Given the description of an element on the screen output the (x, y) to click on. 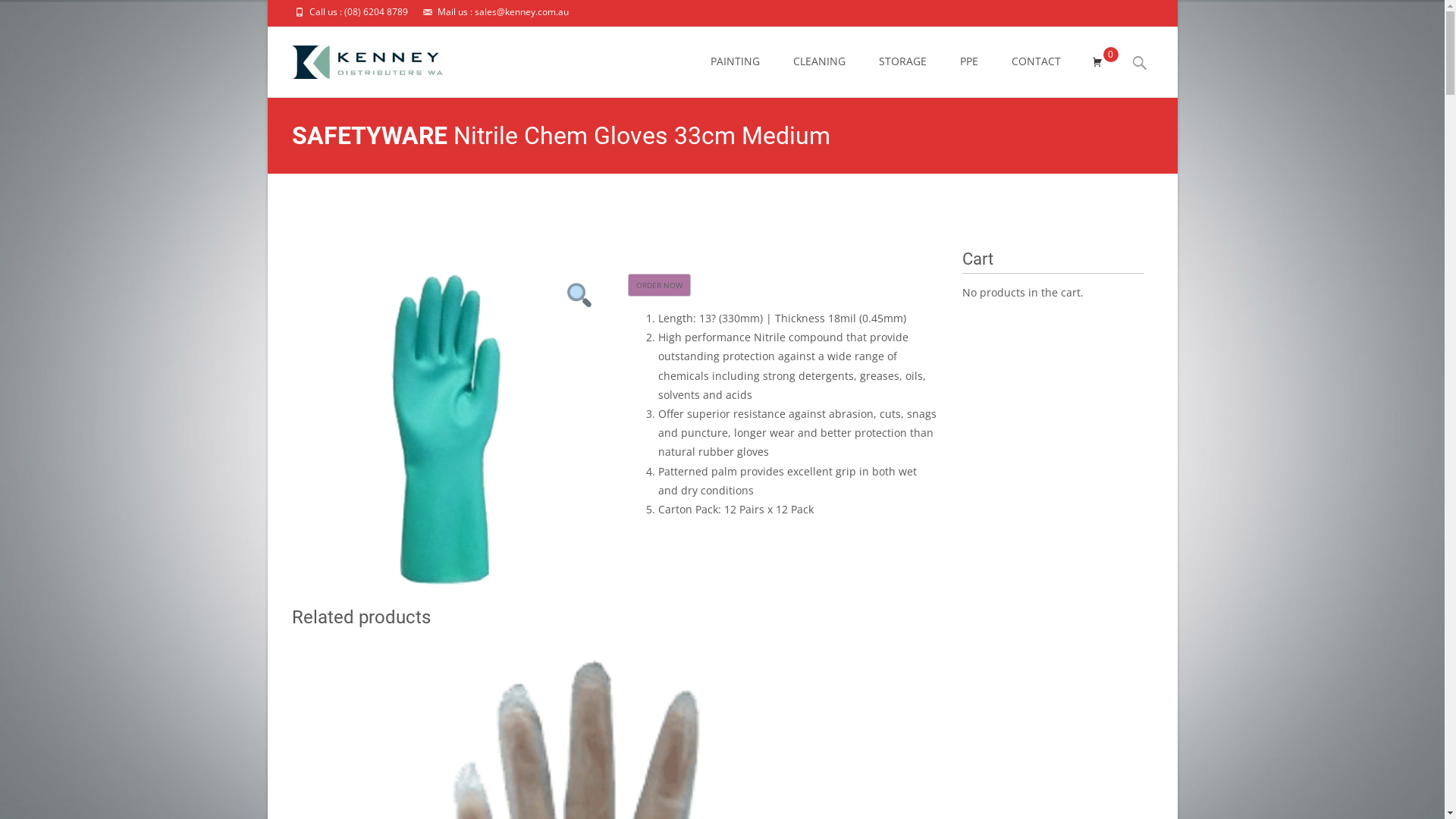
Products Element type: text (786, 210)
STORAGE Element type: text (901, 61)
Kenney Distributors WA Element type: text (691, 210)
Search Element type: text (18, 15)
CONTACT Element type: text (1035, 61)
PPE Element type: text (831, 210)
1SF-NG.png Element type: hover (446, 429)
Kenney Distributors WA Element type: hover (354, 57)
Skip to content Element type: text (694, 26)
GLOVES Element type: text (871, 210)
PPE Element type: text (969, 61)
Search for: Element type: hover (1139, 63)
PAINTING Element type: text (734, 61)
CLEANING Element type: text (819, 61)
0 Element type: text (1096, 62)
